Given the description of an element on the screen output the (x, y) to click on. 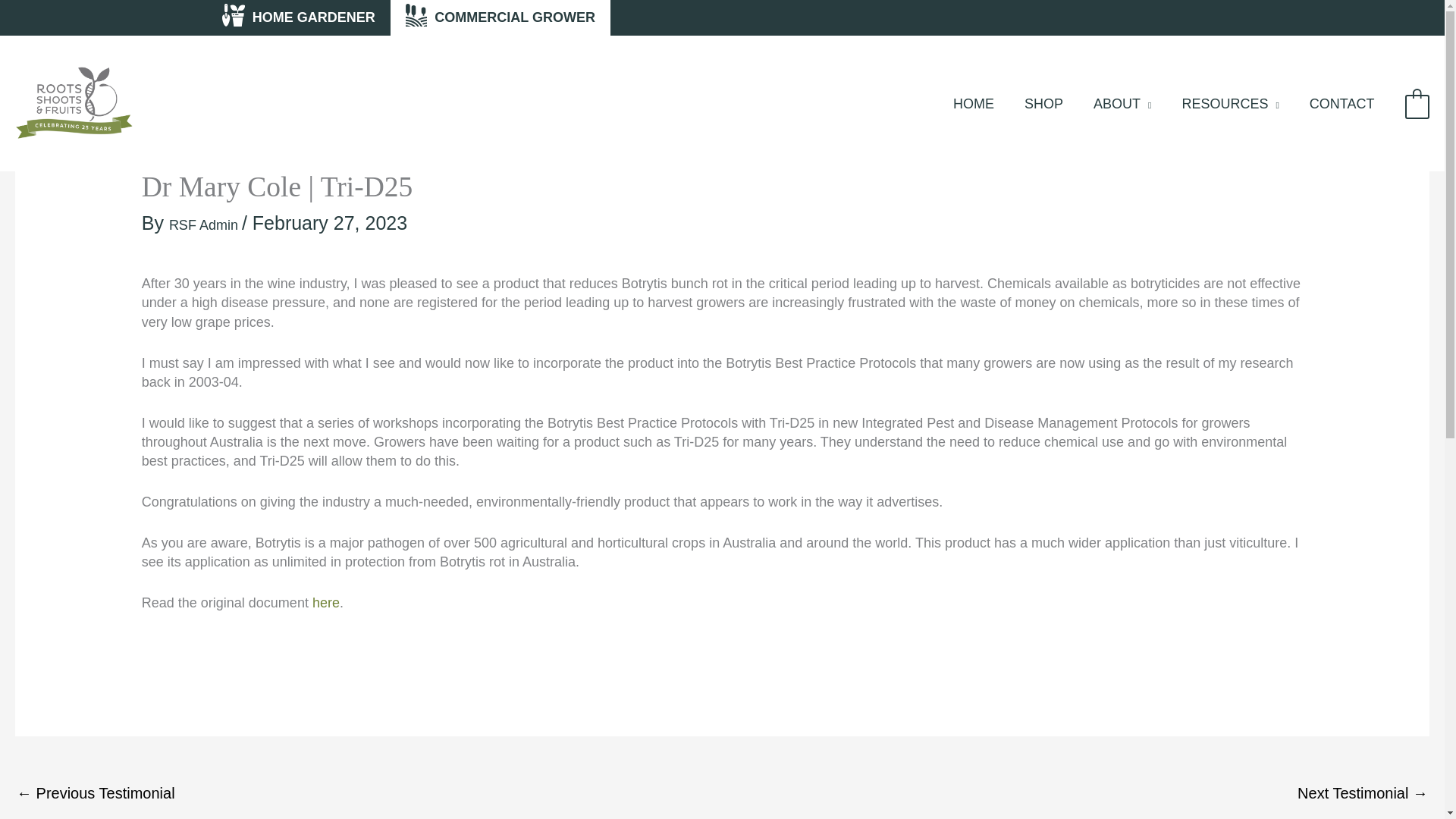
RSF Admin (204, 224)
CONTACT (1342, 104)
RESOURCES (1230, 104)
View all posts by RSF Admin (204, 224)
SHOP (1043, 104)
HOME GARDENER (297, 17)
here (326, 602)
HOME (973, 104)
COMMERCIAL GROWER (500, 17)
0 (1417, 105)
ABOUT (1122, 104)
